Given the description of an element on the screen output the (x, y) to click on. 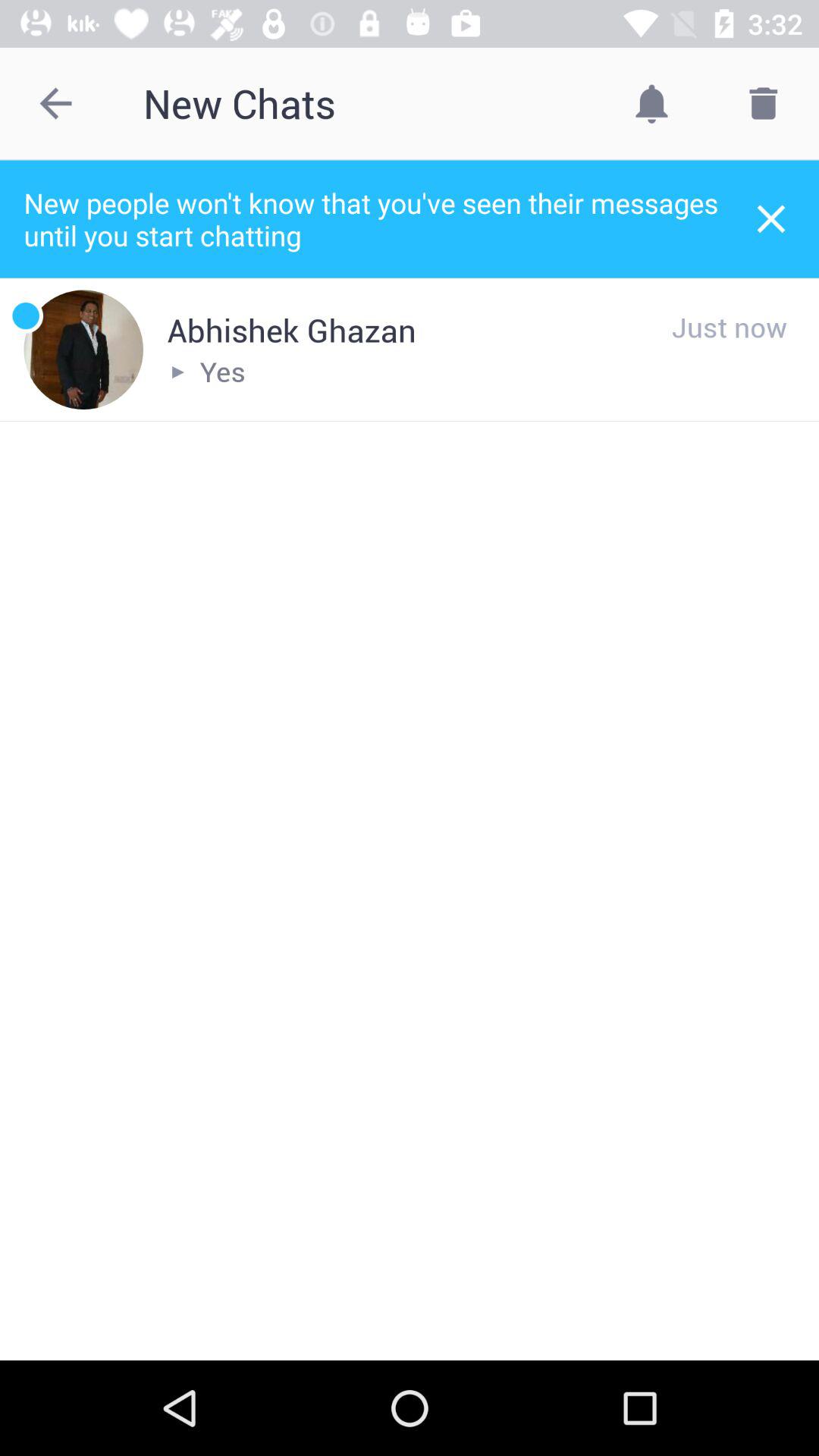
launch item above the just now icon (771, 218)
